Given the description of an element on the screen output the (x, y) to click on. 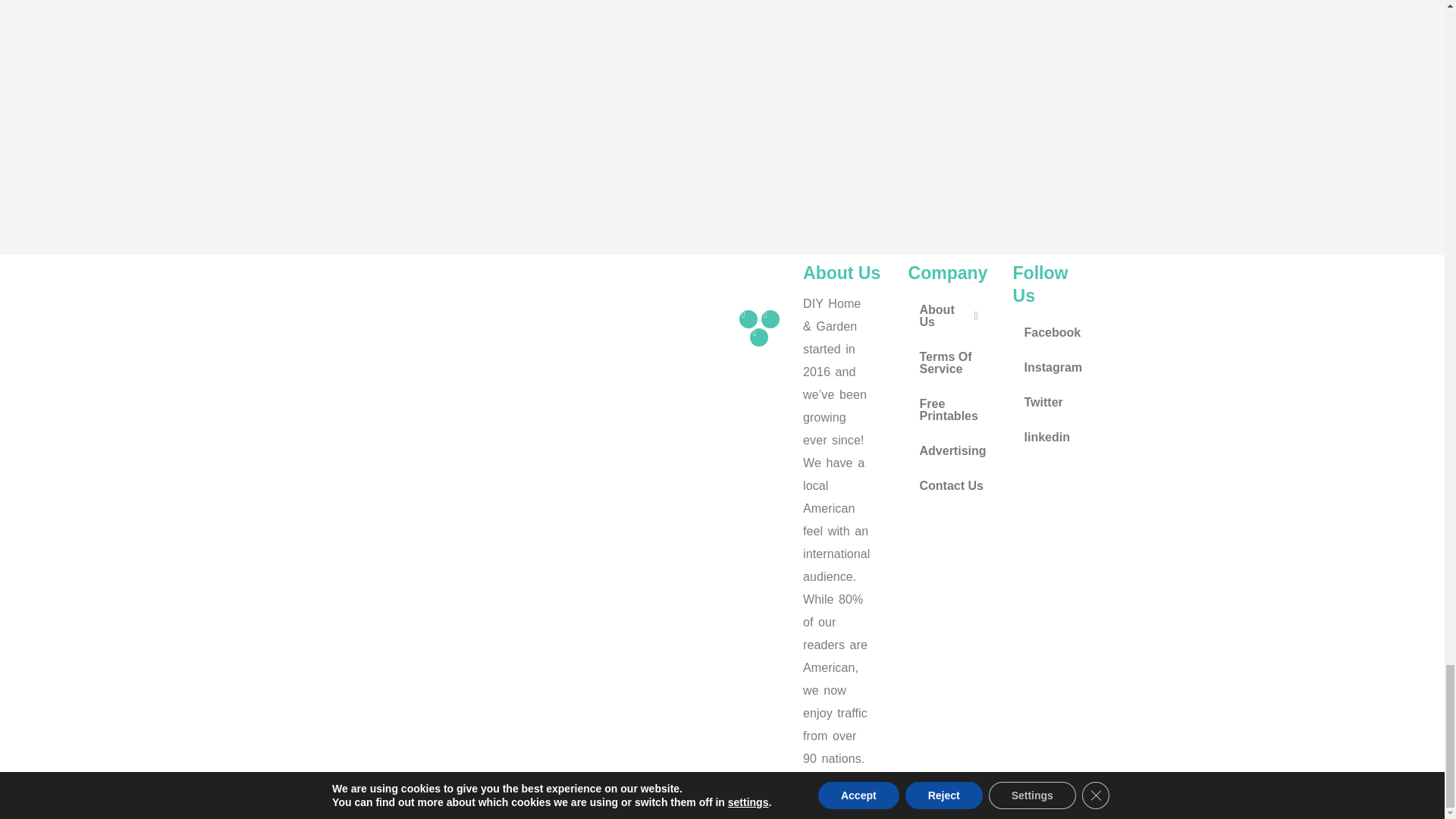
Youtube (758, 337)
Contact Us (952, 485)
linkedin (1053, 437)
Advertising (952, 451)
Facebook-f (748, 319)
Terms Of Service (952, 362)
About Us (952, 315)
Free Printables (952, 410)
Instagram (1053, 367)
Twitter (1053, 402)
